Given the description of an element on the screen output the (x, y) to click on. 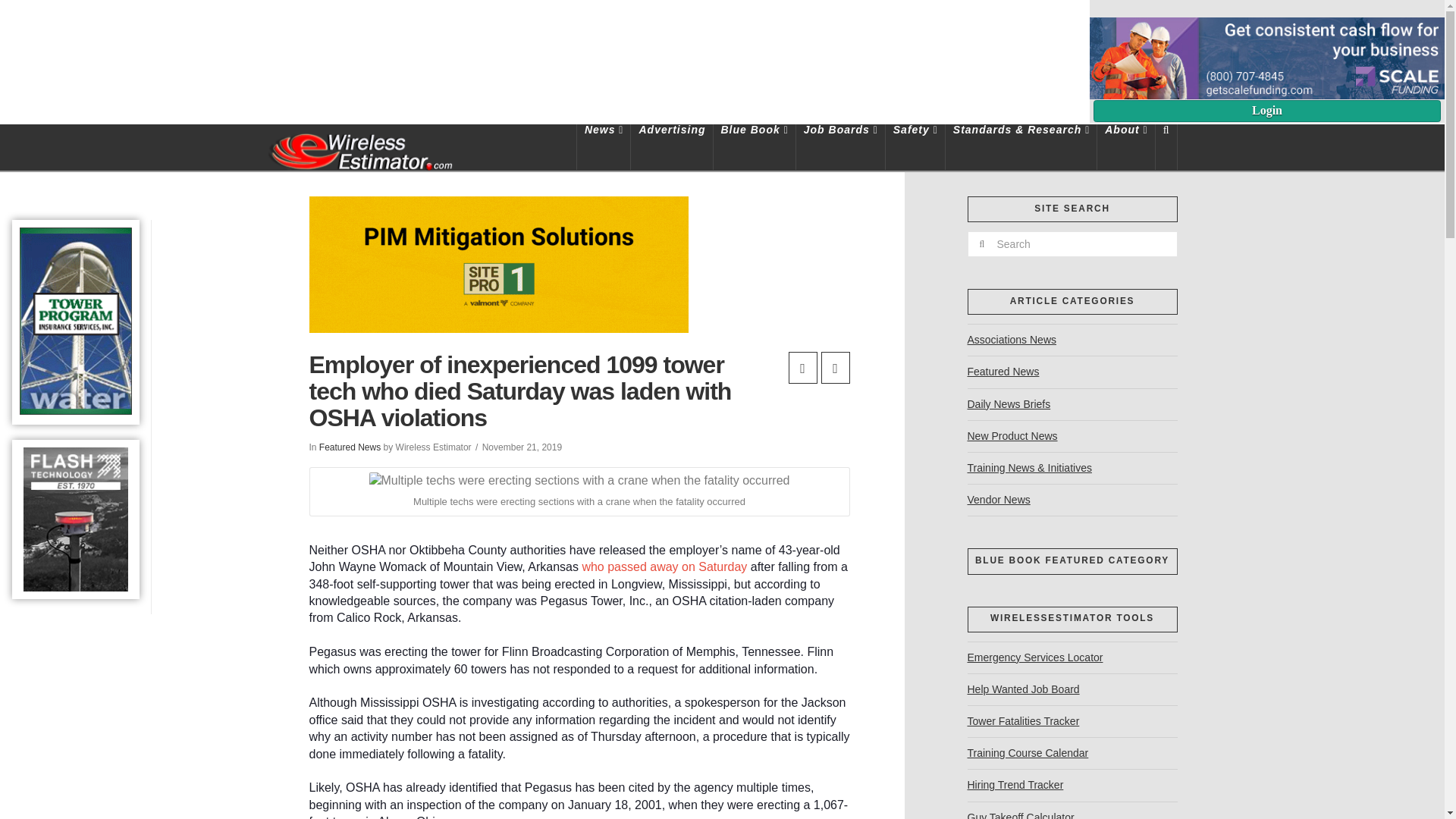
Blue Book (753, 146)
Job Boards (840, 146)
News (603, 146)
The web's leading wireless construction portal (359, 148)
Advertising (671, 146)
Login (1267, 110)
